Given the description of an element on the screen output the (x, y) to click on. 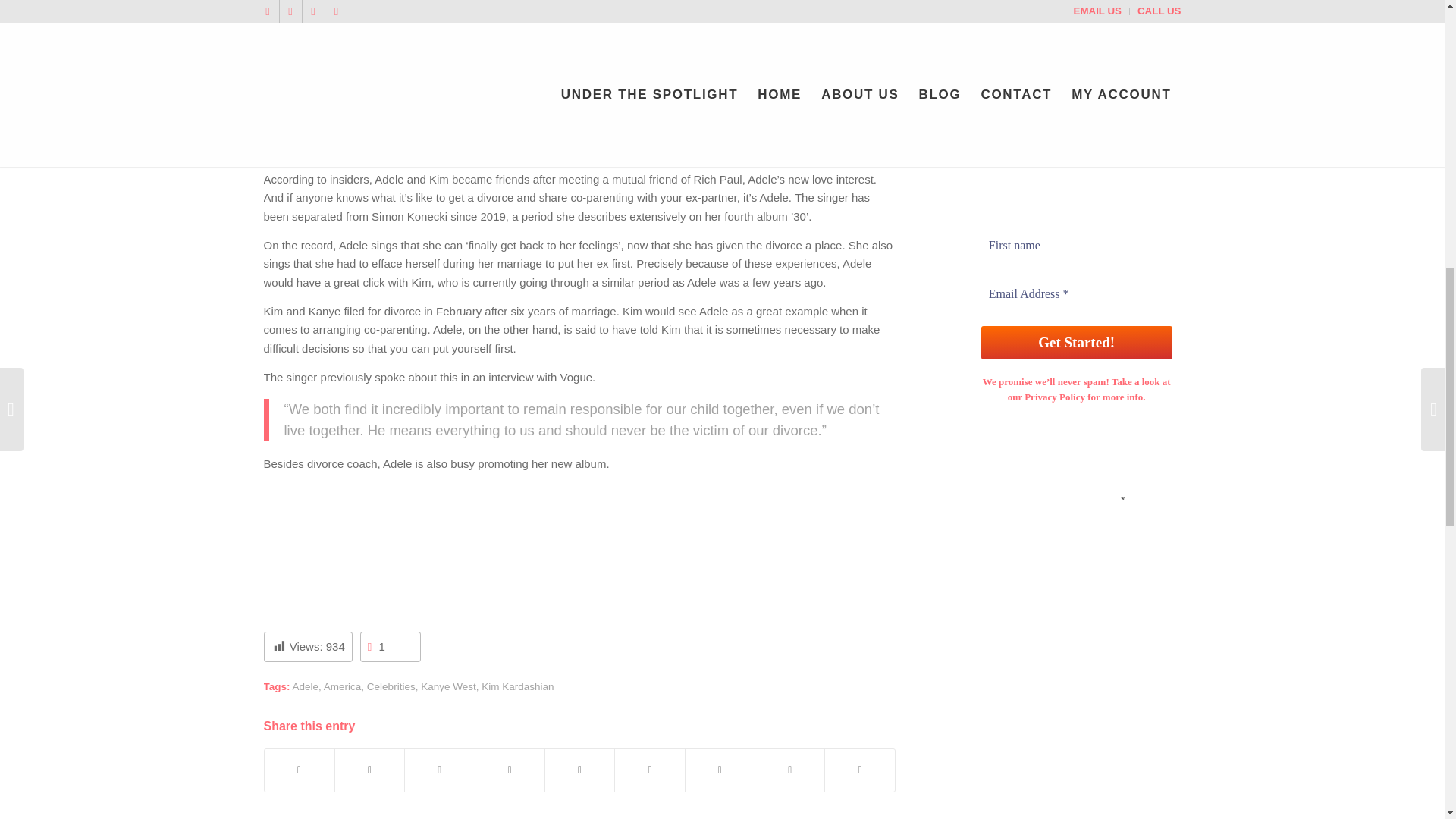
Adele assists Kim Kardashian in divorce from Kanye West (483, 35)
Adele (305, 686)
Celebrities (390, 686)
America (342, 686)
StevennewBlogger1 (560, 60)
Celebrities (439, 60)
Adele assists Kim Kardashian in divorce from Kanye West (579, 8)
Kim Kardashian (517, 686)
Posts by StevennewBlogger1 (560, 60)
0 Comments (371, 60)
